Given the description of an element on the screen output the (x, y) to click on. 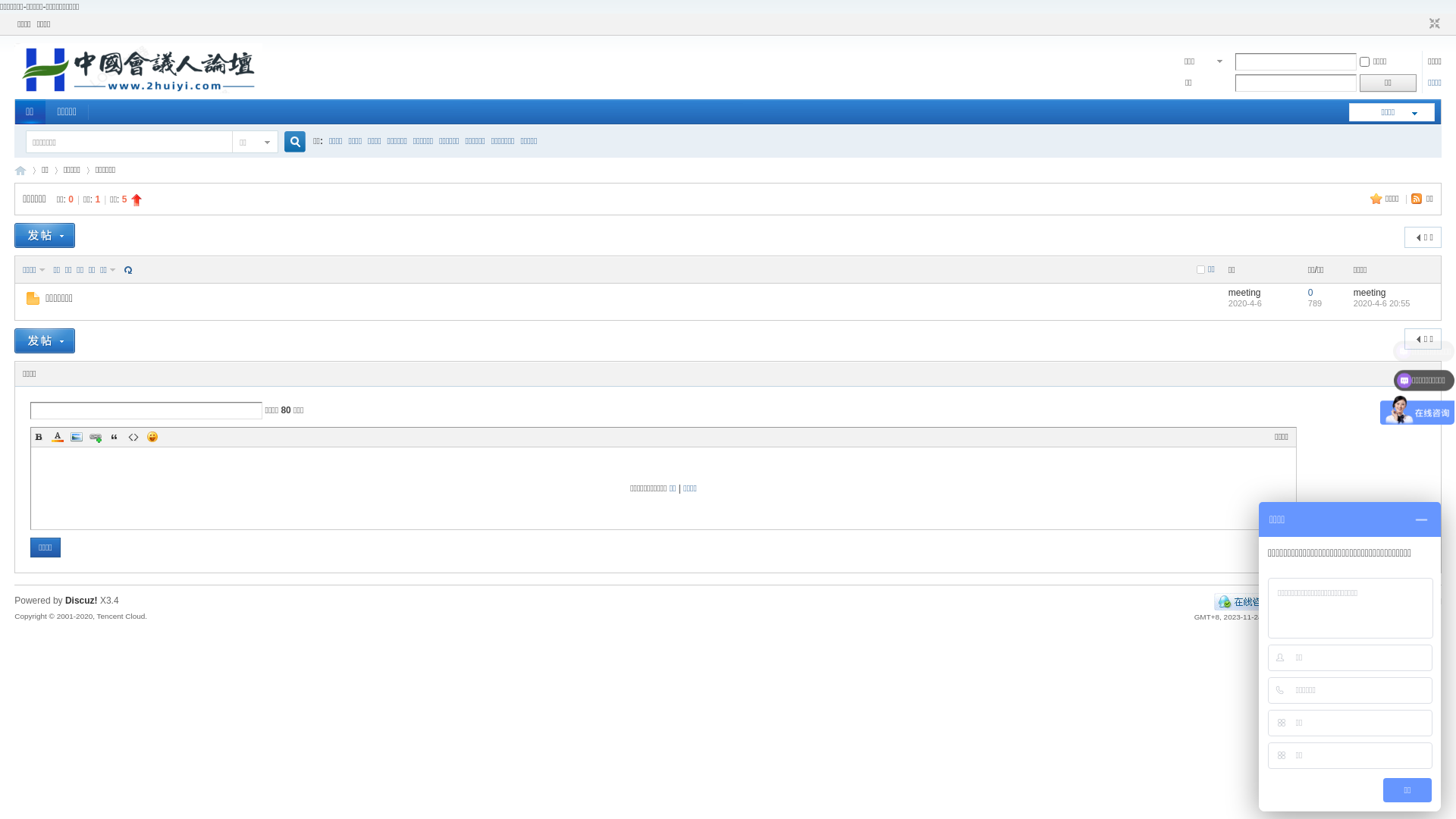
Color Element type: text (57, 436)
B Element type: text (38, 436)
Quote Element type: text (114, 436)
Archiver Element type: text (1301, 601)
Image Element type: text (76, 436)
meeting Element type: text (1244, 292)
Discuz! Element type: text (81, 600)
true Element type: text (289, 141)
QQ Element type: hover (1244, 601)
0 Element type: text (1310, 292)
2020-4-6 20:55 Element type: text (1381, 302)
Code Element type: text (133, 436)
meeting Element type: text (1369, 292)
Smilies Element type: text (152, 436)
Link Element type: text (95, 436)
